Given the description of an element on the screen output the (x, y) to click on. 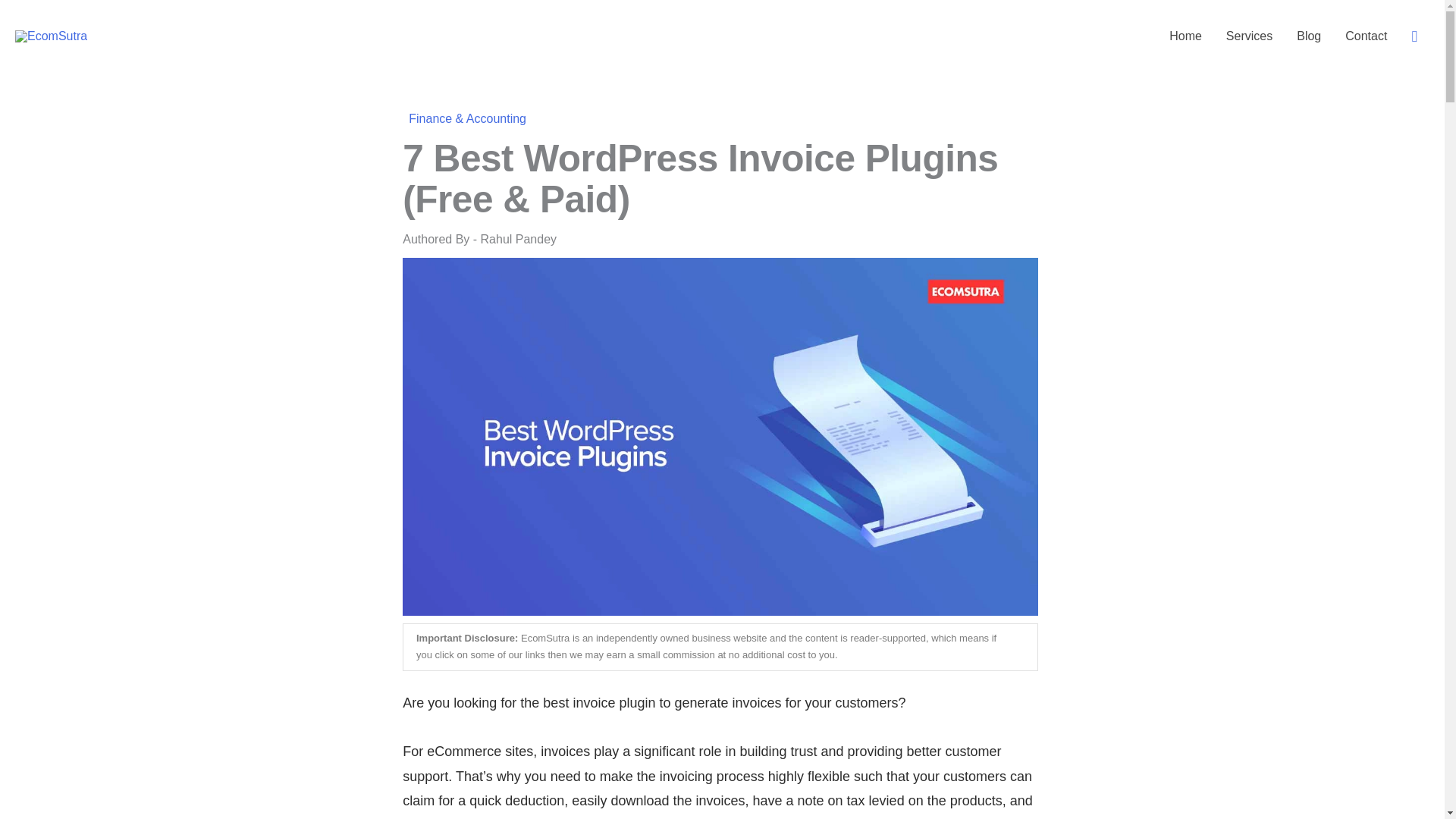
Services (1249, 36)
Blog (1308, 36)
Home (1185, 36)
Contact (1366, 36)
